Given the description of an element on the screen output the (x, y) to click on. 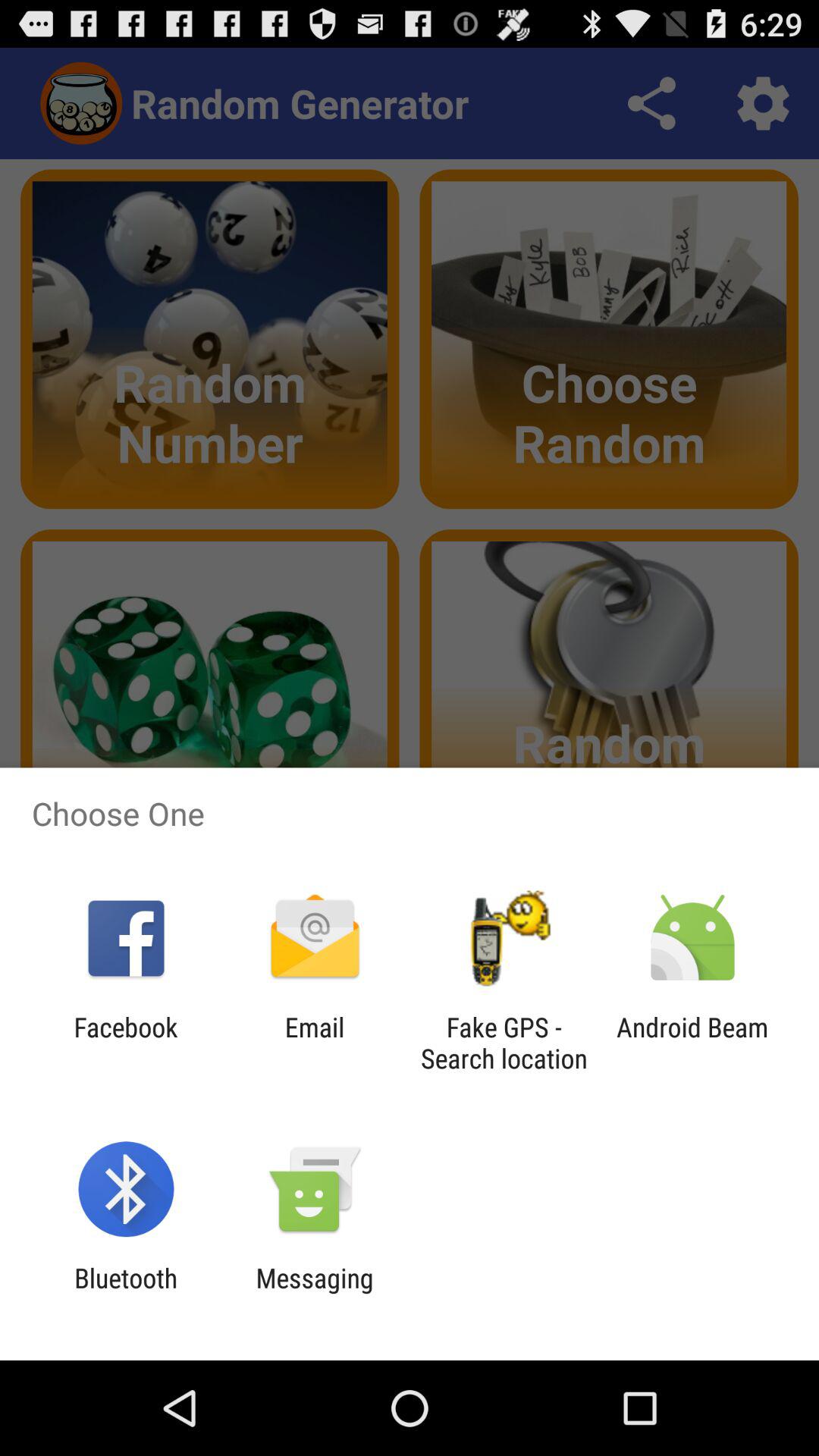
launch the app to the left of the android beam (503, 1042)
